Given the description of an element on the screen output the (x, y) to click on. 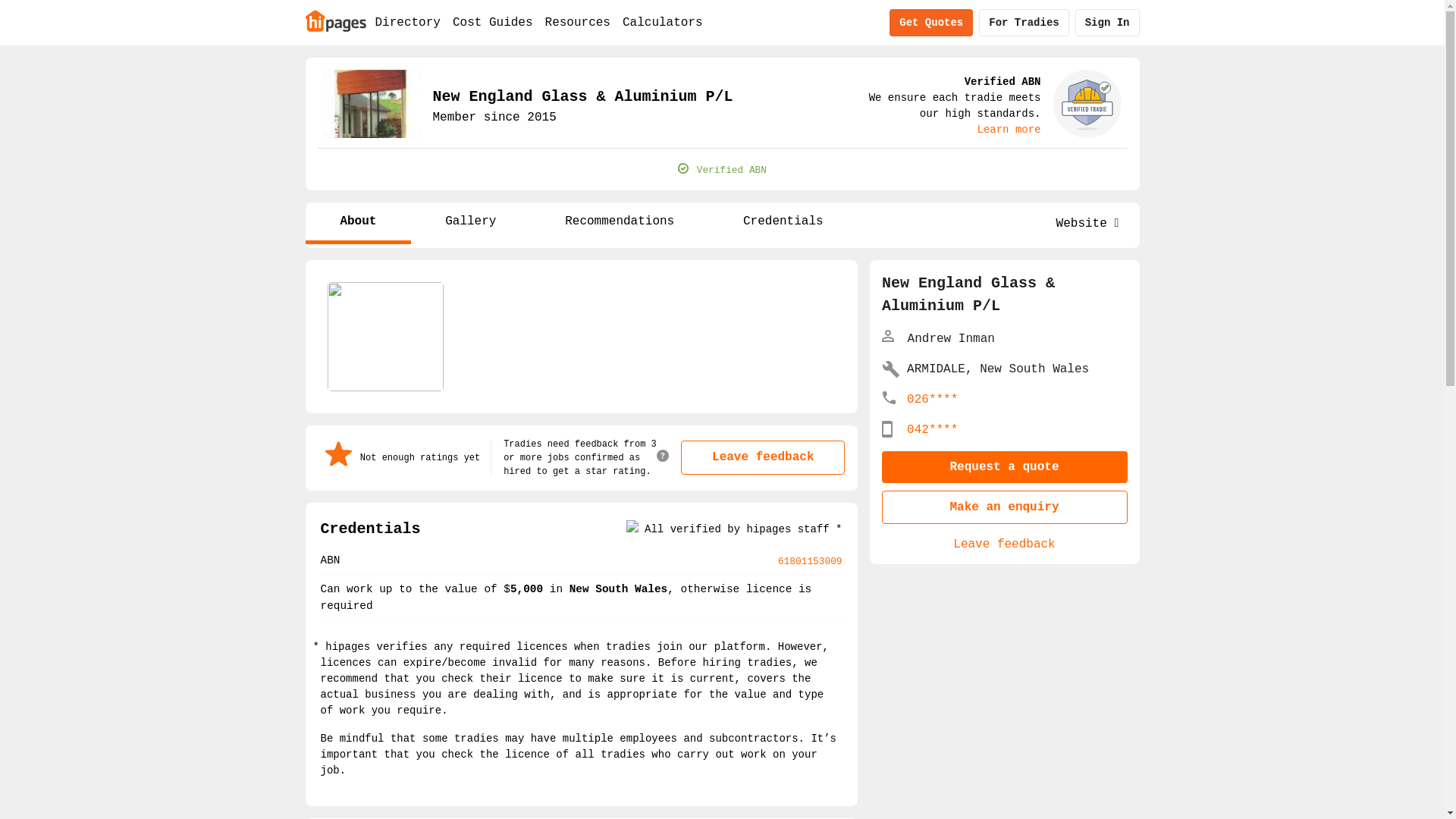
Sign In Element type: text (1107, 22)
For Tradies Element type: text (1023, 22)
026**** Element type: text (931, 399)
Home Element type: hover (334, 20)
Request a quote Element type: text (1003, 467)
Leave feedback Element type: text (762, 456)
Get Quotes Element type: text (930, 22)
042**** Element type: text (931, 429)
Gallery Element type: text (470, 223)
Leave feedback Element type: text (1003, 544)
Directory Element type: text (406, 22)
Credentials Element type: text (782, 223)
For Tradies Element type: text (1023, 22)
Learn more Element type: text (1008, 130)
Calculators Element type: text (662, 22)
Recommendations Element type: text (619, 223)
Cost Guides Element type: text (492, 22)
61801153009 Element type: text (809, 561)
Make an enquiry Element type: text (1003, 507)
Resources Element type: text (577, 22)
About Element type: text (357, 223)
